Given the description of an element on the screen output the (x, y) to click on. 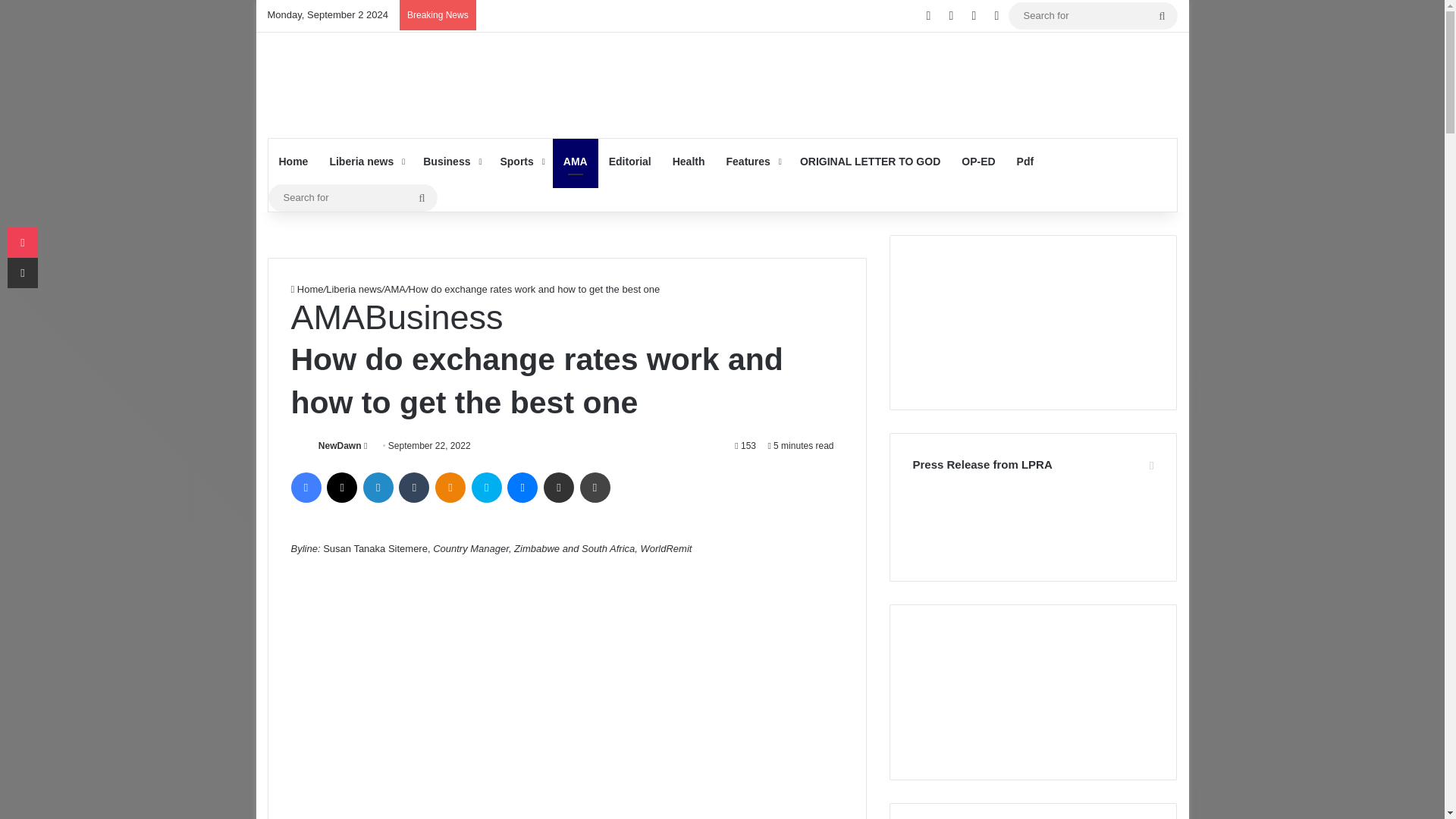
Home (292, 161)
NewDawn (339, 445)
X (341, 487)
Facebook (306, 487)
Skype (486, 487)
LinkedIn (377, 487)
Search for (1161, 15)
Liberia news (365, 161)
Messenger (521, 487)
Search for (352, 197)
